Given the description of an element on the screen output the (x, y) to click on. 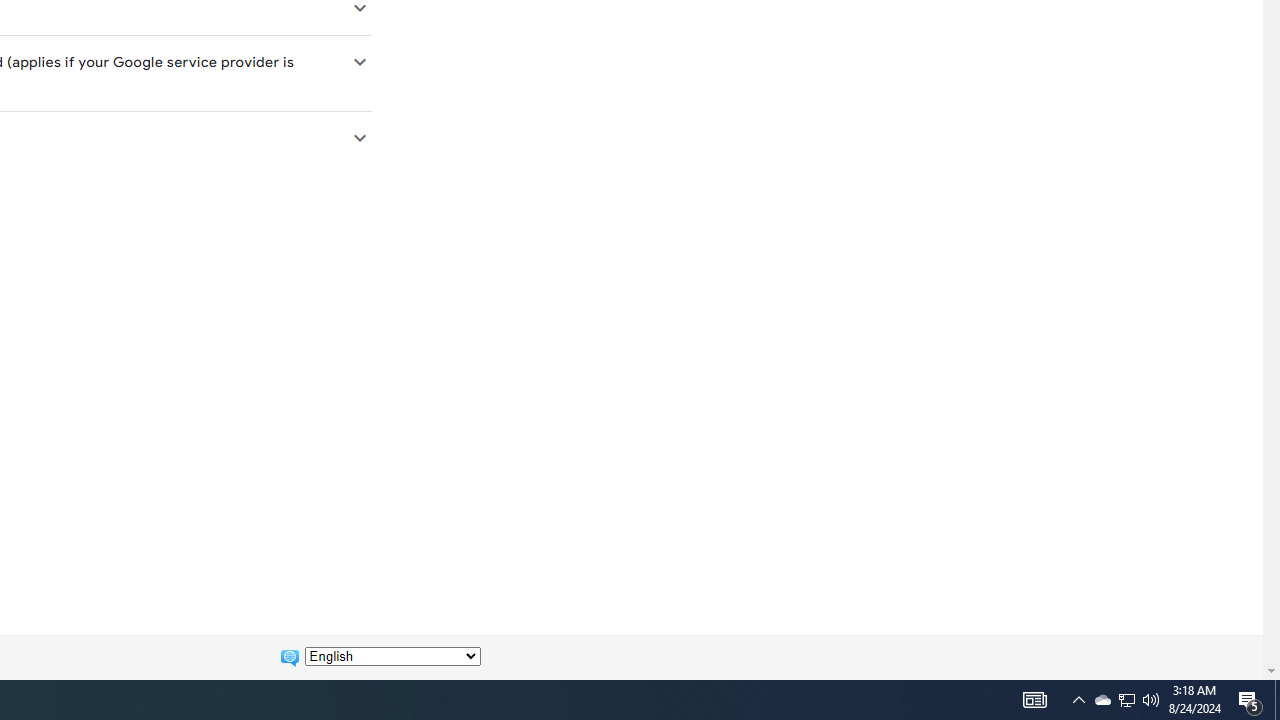
Change language: (392, 656)
